Given the description of an element on the screen output the (x, y) to click on. 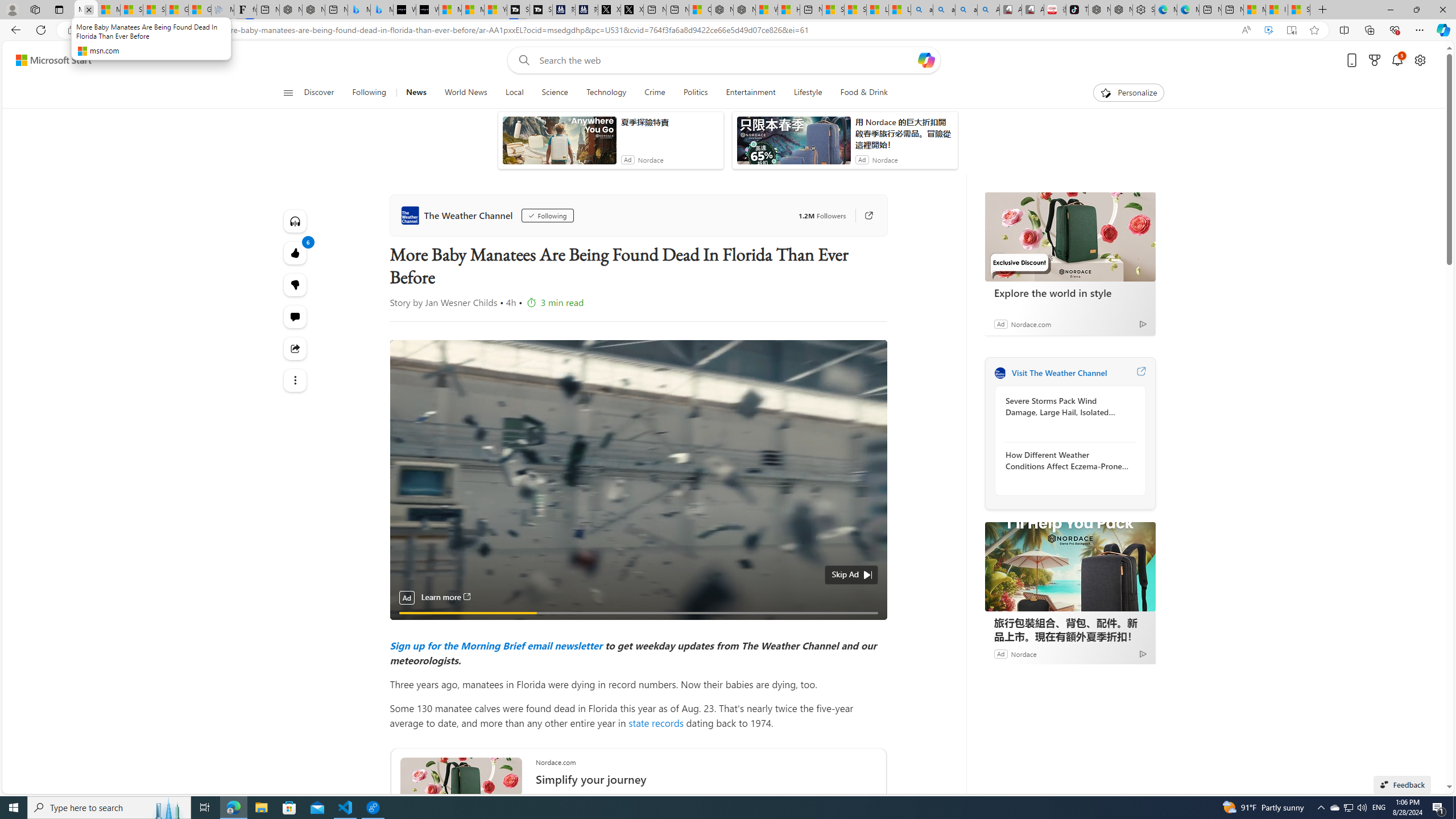
X (631, 9)
Notifications (1397, 60)
Feedback (1402, 784)
Ad (999, 653)
Microsoft Start Sports (449, 9)
amazon - Search (943, 9)
Wildlife - MSN (767, 9)
Politics (694, 92)
Explore the world in style (1070, 236)
Nordace - Summer Adventures 2024 (744, 9)
See more (295, 380)
Enter Immersive Reader (F9) (1291, 29)
